Given the description of an element on the screen output the (x, y) to click on. 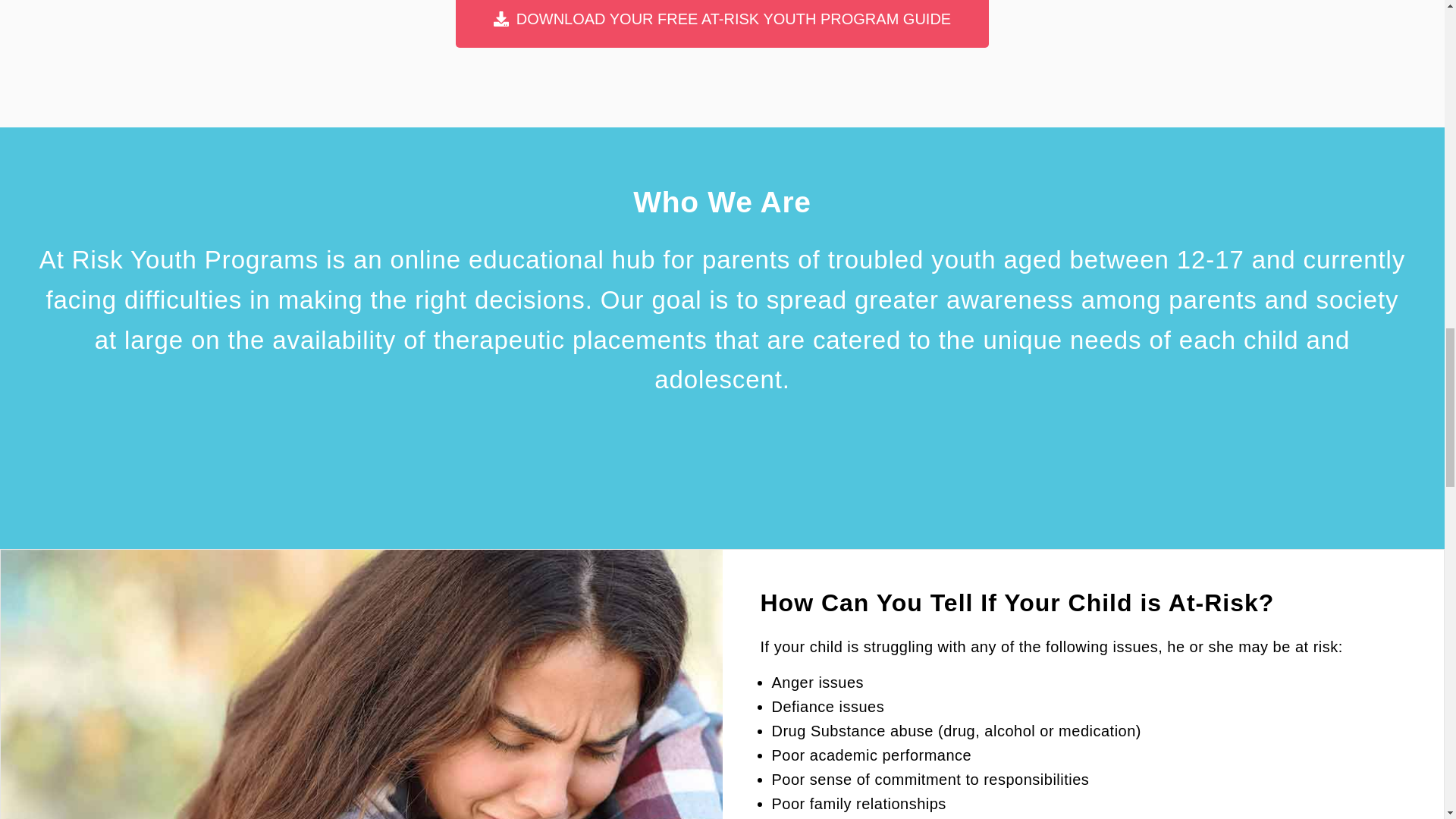
DOWNLOAD YOUR FREE AT-RISK YOUTH PROGRAM GUIDE (721, 23)
